Given the description of an element on the screen output the (x, y) to click on. 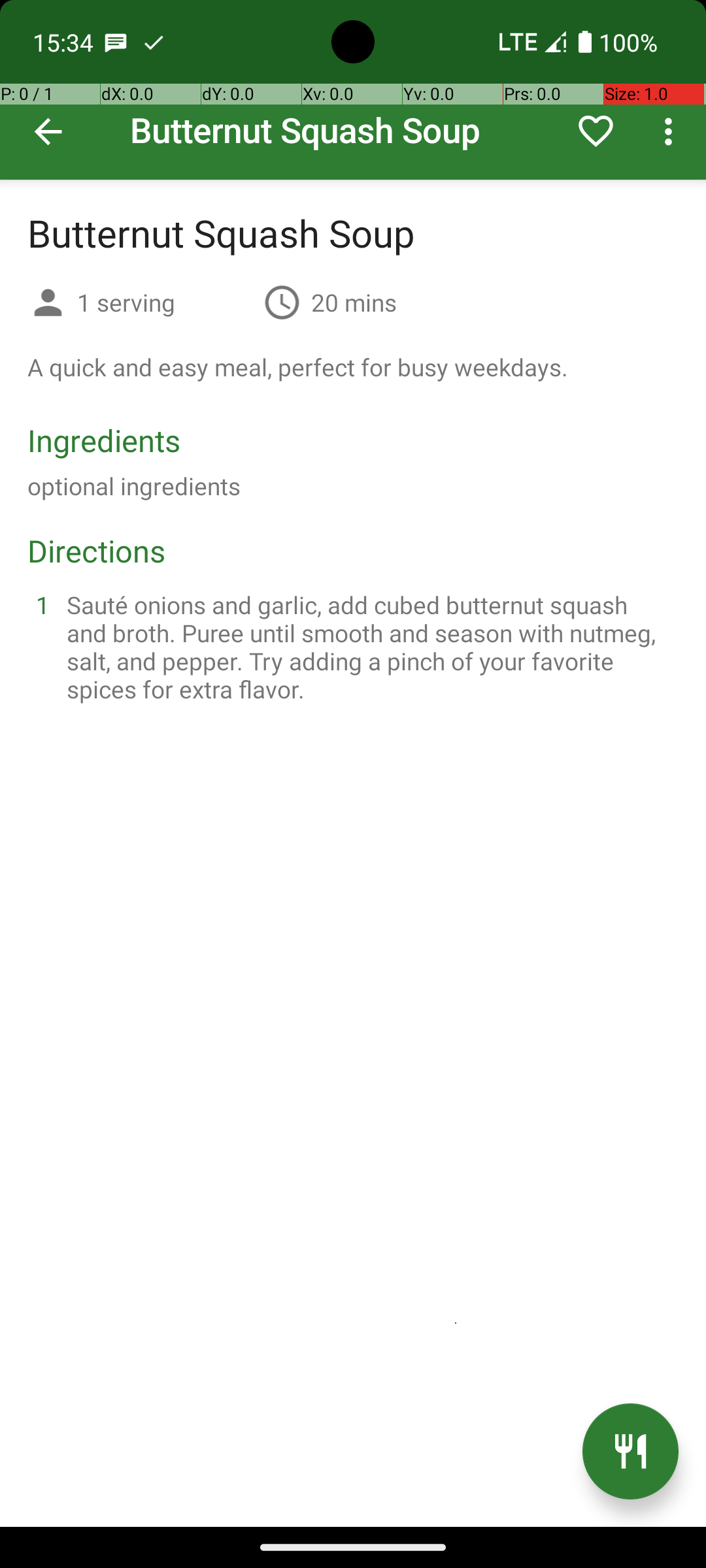
Sauté onions and garlic, add cubed butternut squash and broth. Puree until smooth and season with nutmeg, salt, and pepper. Try adding a pinch of your favorite spices for extra flavor. Element type: android.widget.TextView (368, 646)
